Given the description of an element on the screen output the (x, y) to click on. 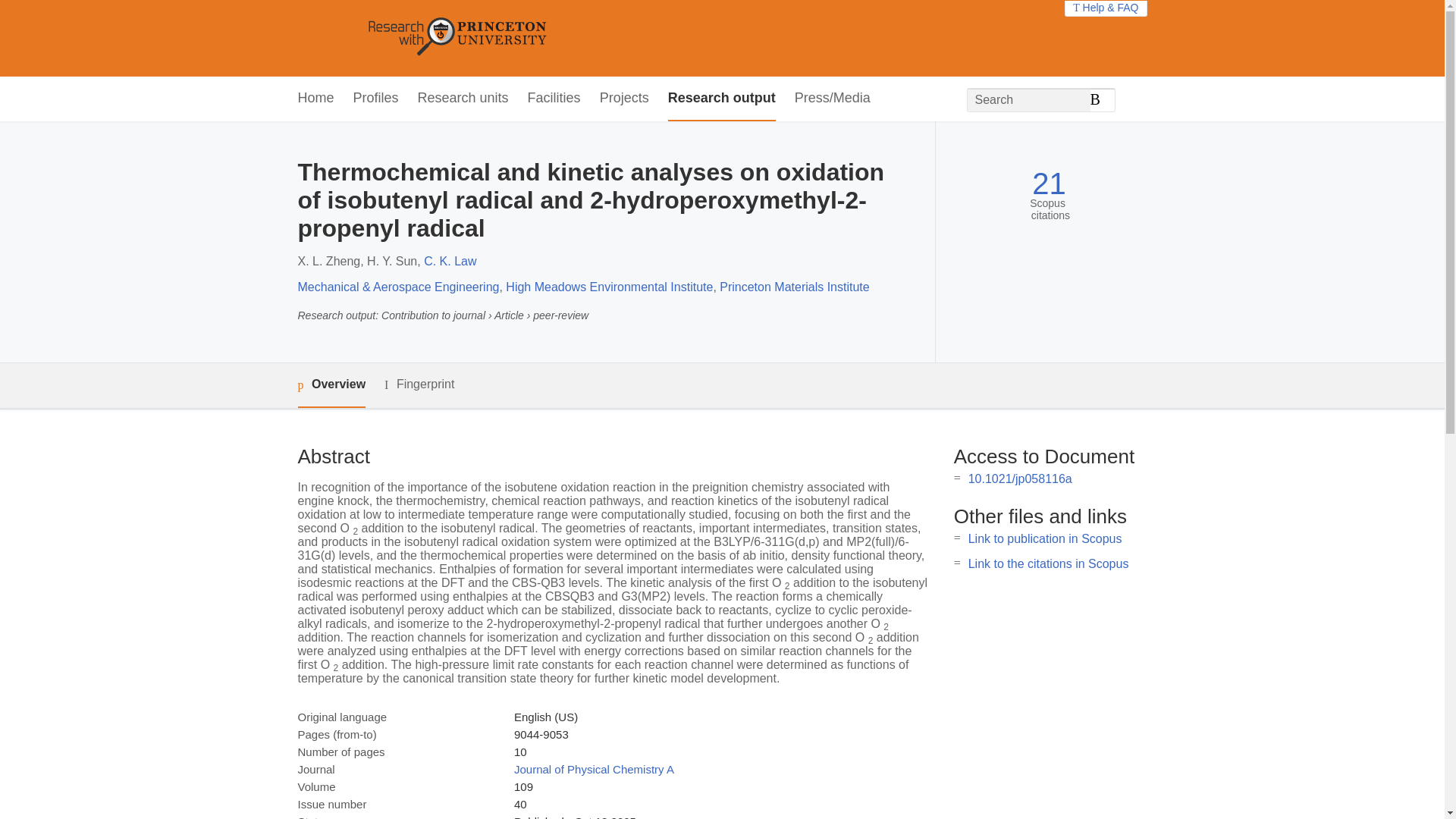
C. K. Law (449, 260)
Link to publication in Scopus (1045, 538)
Research output (722, 98)
Projects (624, 98)
Overview (331, 385)
Journal of Physical Chemistry A (593, 768)
Princeton University Home (567, 38)
Profiles (375, 98)
Princeton Materials Institute (794, 286)
21 (1048, 183)
Research units (462, 98)
High Meadows Environmental Institute (609, 286)
Facilities (553, 98)
Fingerprint (419, 384)
